Given the description of an element on the screen output the (x, y) to click on. 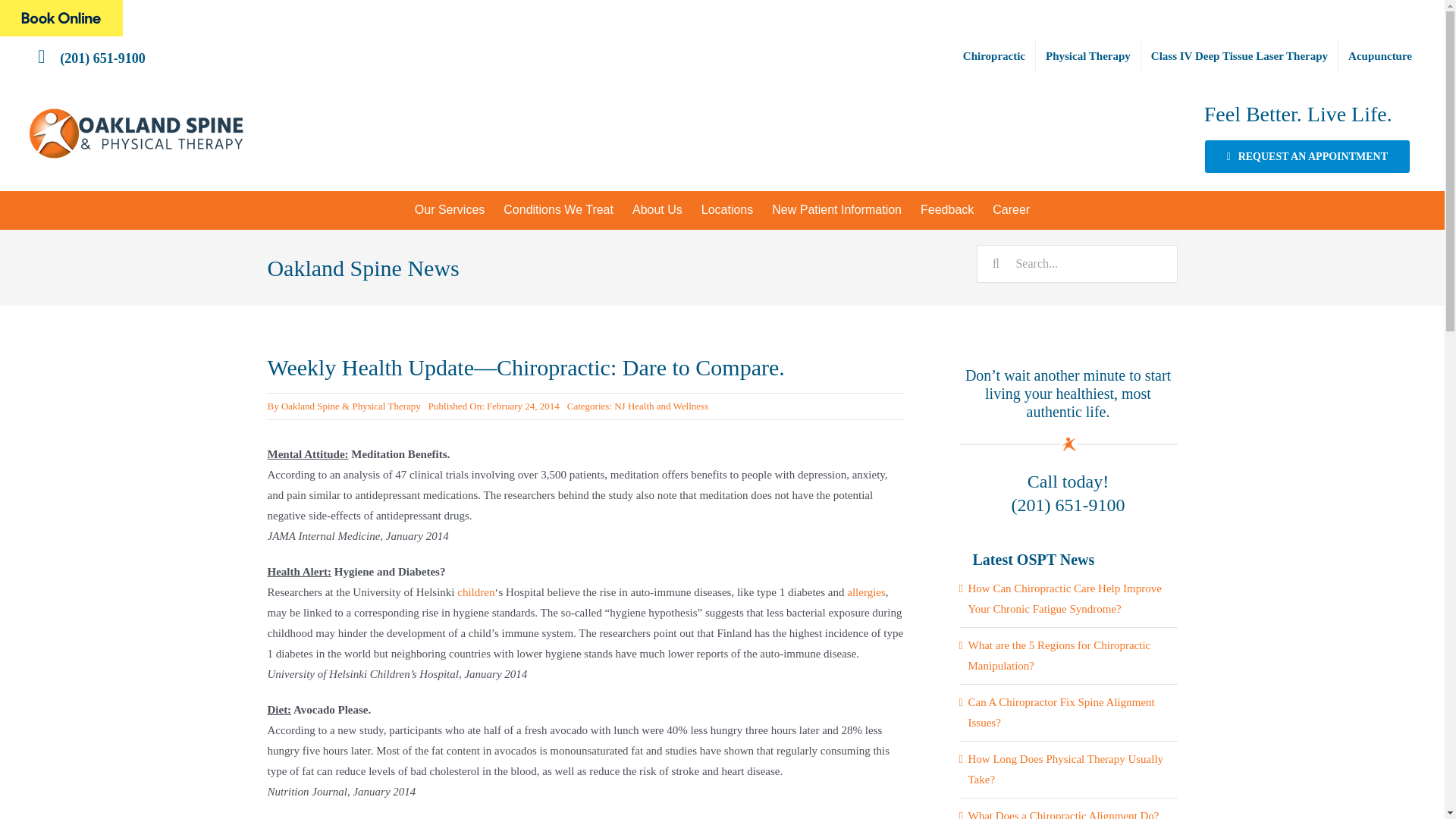
About Us (657, 209)
Our Services (448, 209)
Acupuncture (1380, 56)
Oakland Spine and Physical Therapy  (61, 18)
Feedback (947, 209)
Chiropractic (994, 56)
Appointment Request (1307, 156)
children (476, 592)
allergies (866, 592)
Physical Therapy (1087, 56)
Locations (726, 209)
Class IV Deep Tissue Laser Therapy (1239, 56)
REQUEST AN APPOINTMENT (1307, 156)
New Patient Information (836, 209)
Conditions We Treat (559, 209)
